Given the description of an element on the screen output the (x, y) to click on. 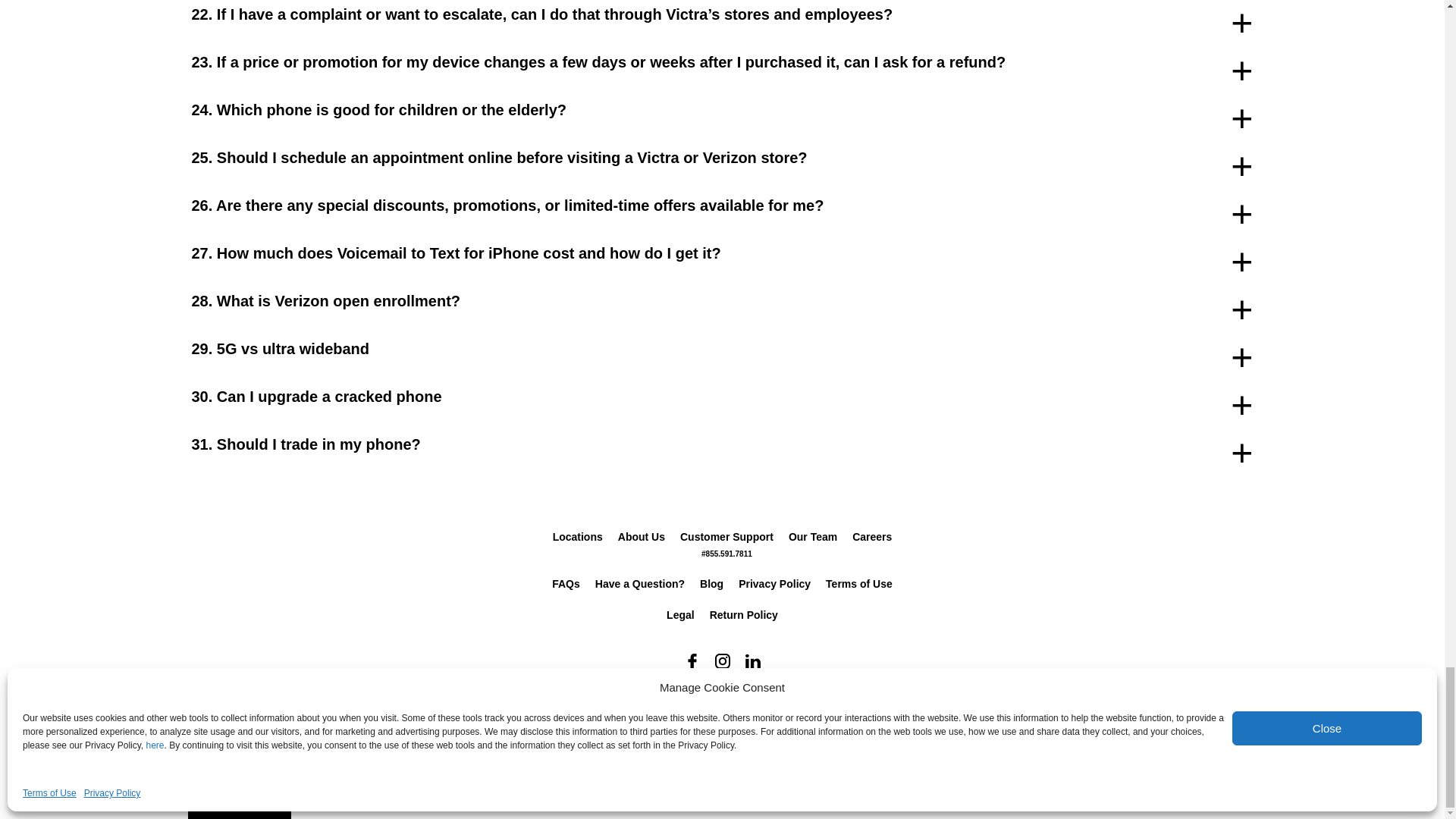
Linkedin (751, 661)
Facebook (691, 661)
Instagram (721, 661)
